Given the description of an element on the screen output the (x, y) to click on. 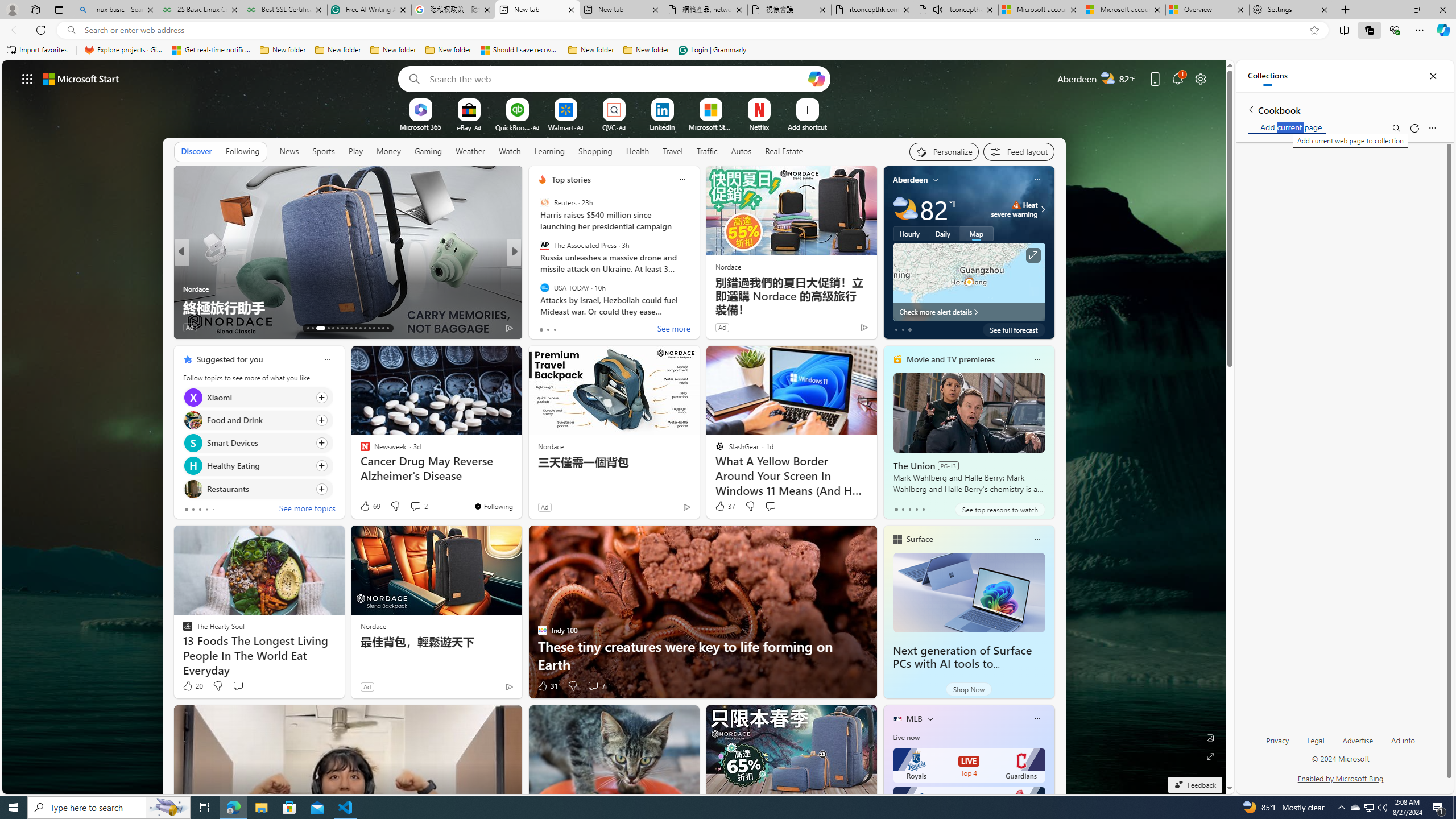
How to disable fast startup in Windows 11 (697, 307)
Royals LIVE Top 4 Guardians (968, 765)
View comments 72 Comment (592, 327)
Fix Boat Bliss (697, 307)
Click to follow topic Food and Drink (257, 419)
AutomationID: tab-19 (342, 328)
